Given the description of an element on the screen output the (x, y) to click on. 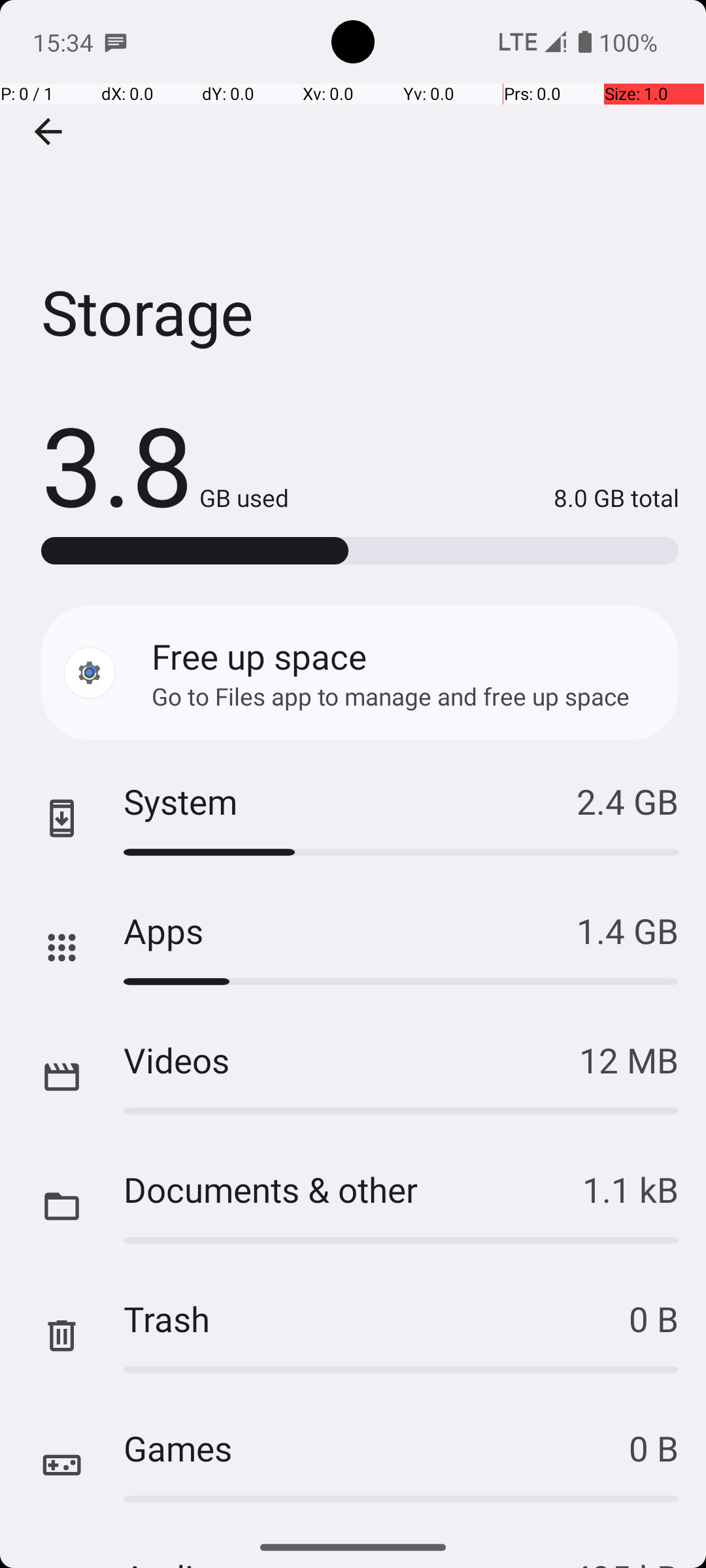
3.8 GB used Element type: android.widget.TextView (164, 463)
2.4 GB Element type: android.widget.TextView (627, 801)
1.4 GB Element type: android.widget.TextView (627, 930)
12 MB Element type: android.widget.TextView (628, 1059)
1.1 kB Element type: android.widget.TextView (630, 1189)
